Given the description of an element on the screen output the (x, y) to click on. 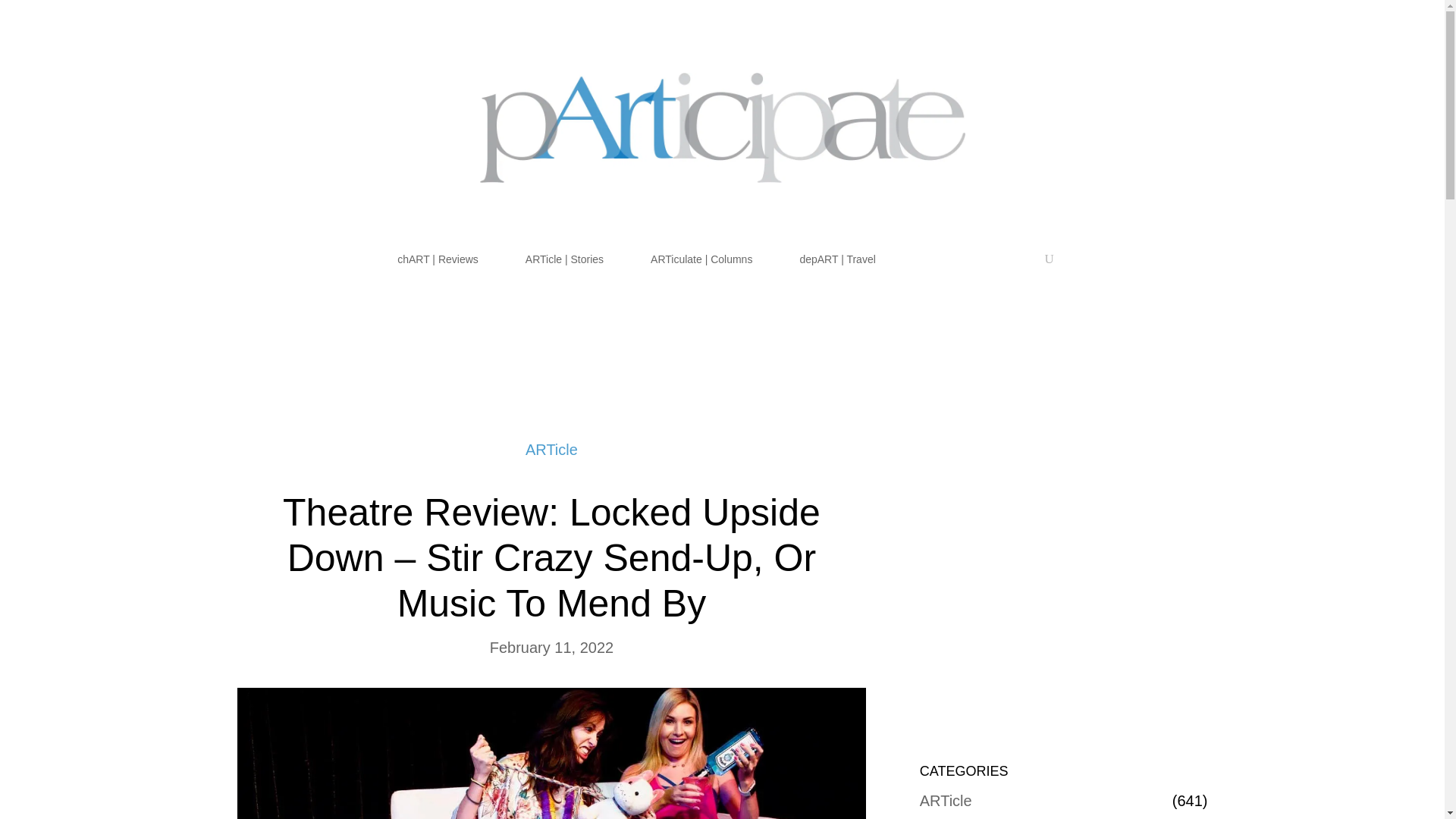
Locked-Upside-Down2 (550, 753)
Follow on Instagram (1194, 84)
ARTicle (551, 449)
Follow on X (1164, 84)
ARTicle (946, 800)
Follow on Facebook (1134, 84)
